Given the description of an element on the screen output the (x, y) to click on. 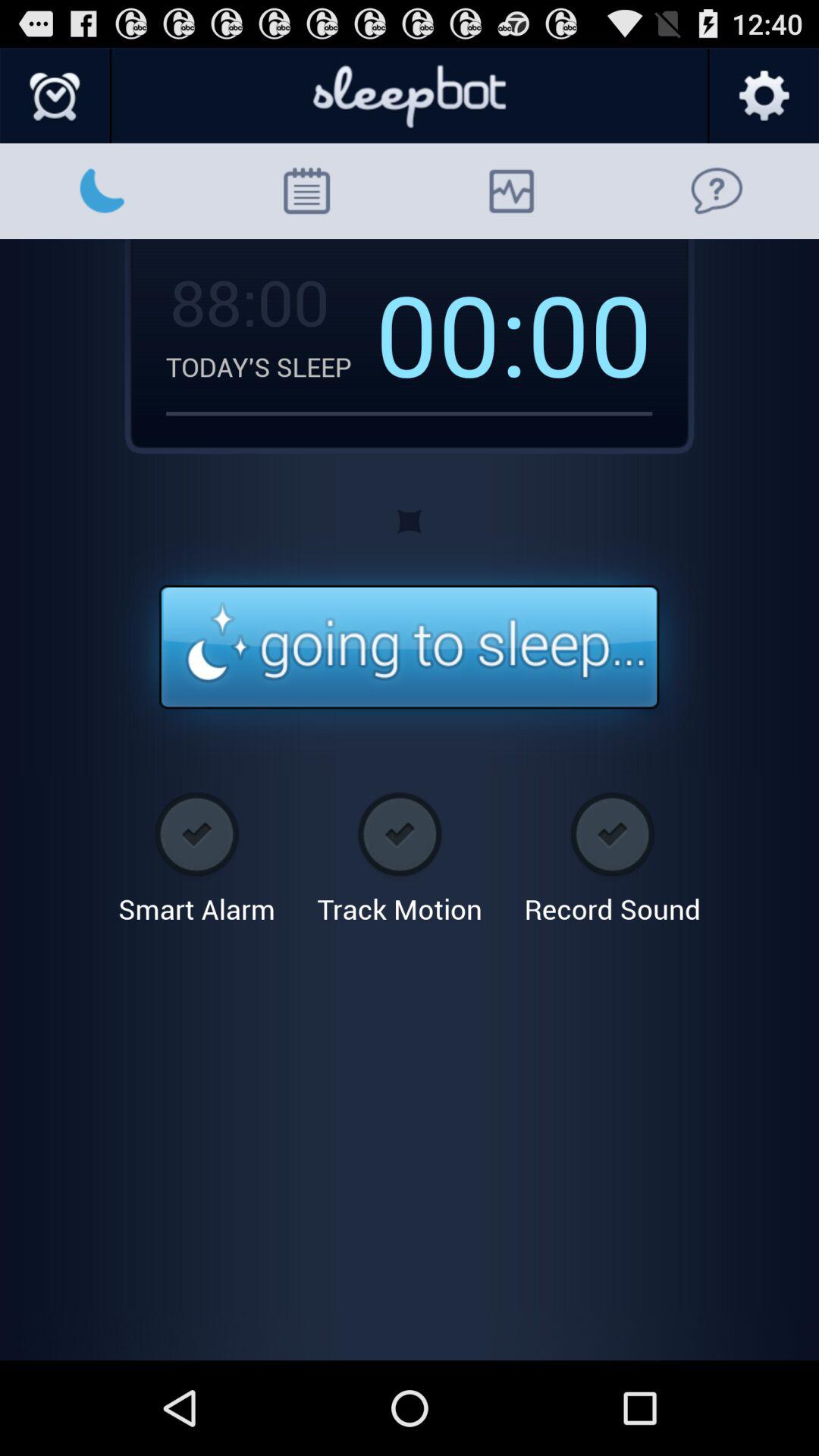
timer alert button (408, 647)
